Given the description of an element on the screen output the (x, y) to click on. 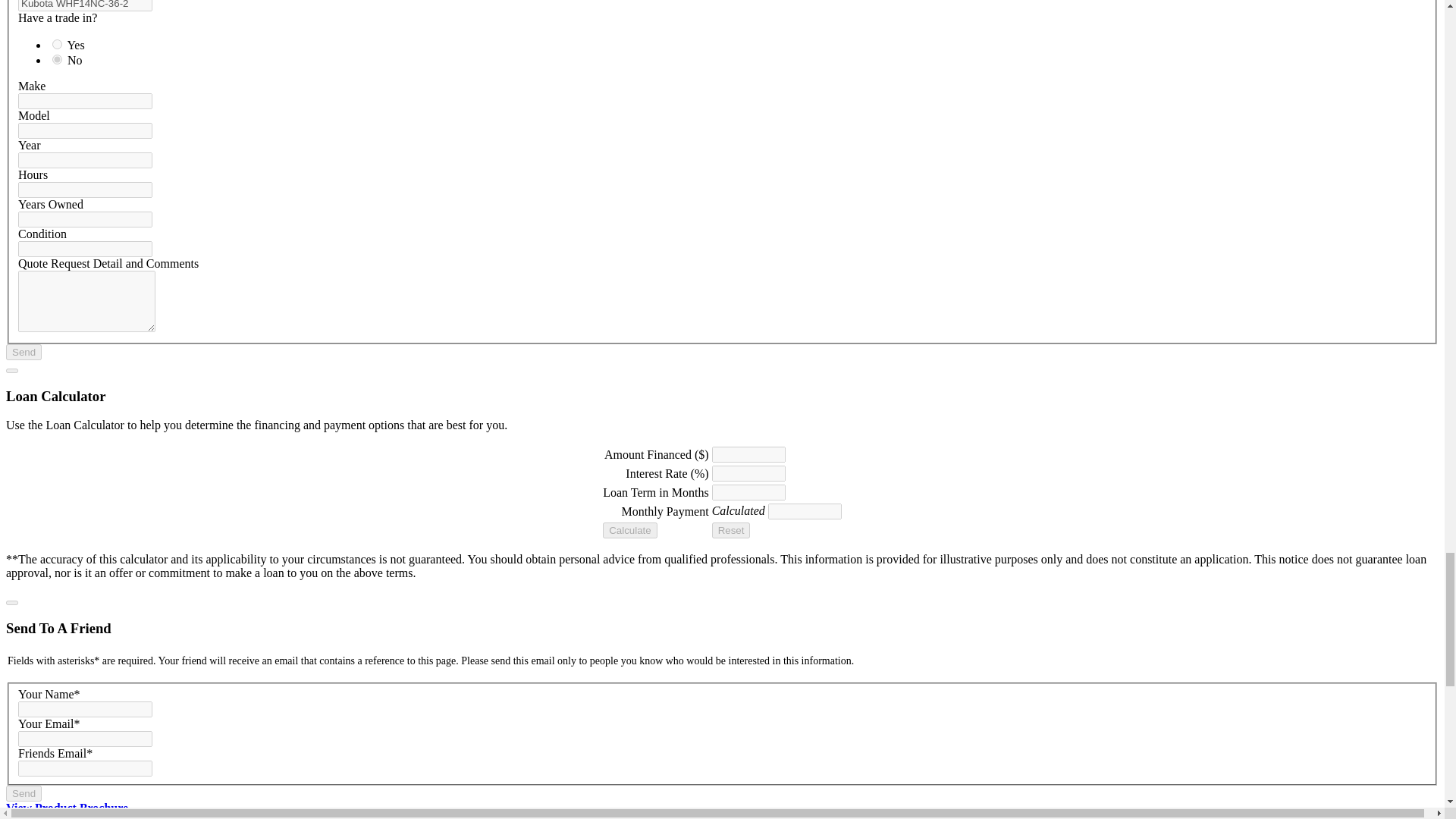
2 (57, 59)
Send (23, 351)
Kubota WHF14NC-36-2 (84, 5)
1 (57, 44)
